Given the description of an element on the screen output the (x, y) to click on. 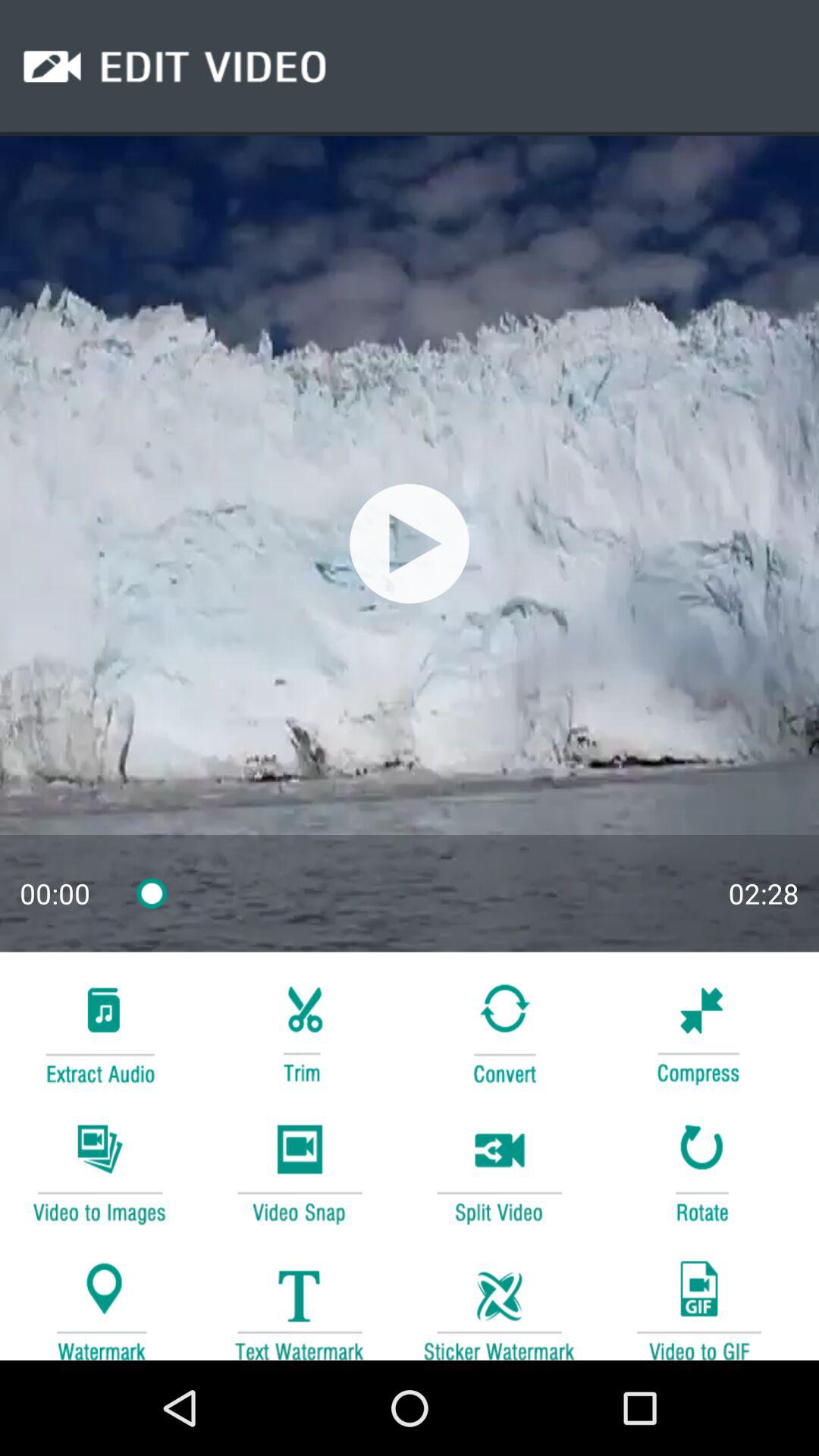
go to play option (409, 543)
